Given the description of an element on the screen output the (x, y) to click on. 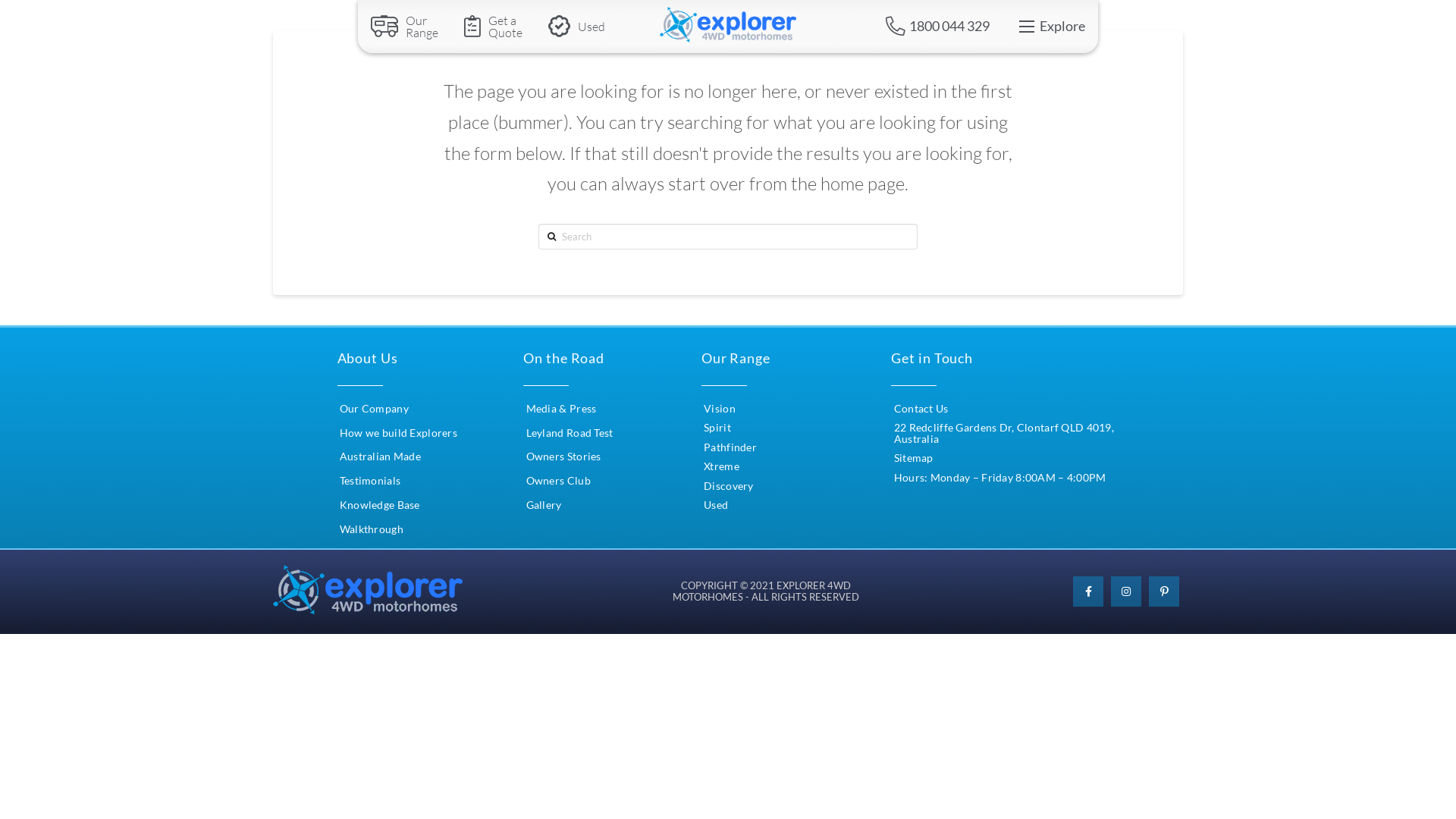
Knowledge Base Element type: text (378, 505)
Media & Press Element type: text (561, 408)
Sitemap Element type: text (913, 457)
Used Element type: text (715, 504)
Get a
Quote Element type: text (493, 26)
Owners Club Element type: text (558, 480)
Our
Range Element type: text (404, 26)
22 Redcliffe Gardens Dr, Clontarf QLD 4019, Australia Element type: text (1005, 433)
Our Company Element type: text (373, 409)
Discovery Element type: text (728, 485)
Leyland Road Test Element type: text (569, 432)
Used Element type: text (576, 26)
Testimonials Element type: text (369, 481)
Pathfinder Element type: text (729, 447)
Vision Element type: text (718, 408)
1800 044 329 Element type: text (937, 25)
How we build Explorers Element type: text (397, 433)
Owners Stories Element type: text (563, 456)
Contact Us Element type: text (921, 408)
Xtreme Element type: text (720, 466)
Australian Made Element type: text (379, 457)
Gallery Element type: text (543, 504)
Spirit Element type: text (716, 427)
Walkthrough Element type: text (370, 529)
